Given the description of an element on the screen output the (x, y) to click on. 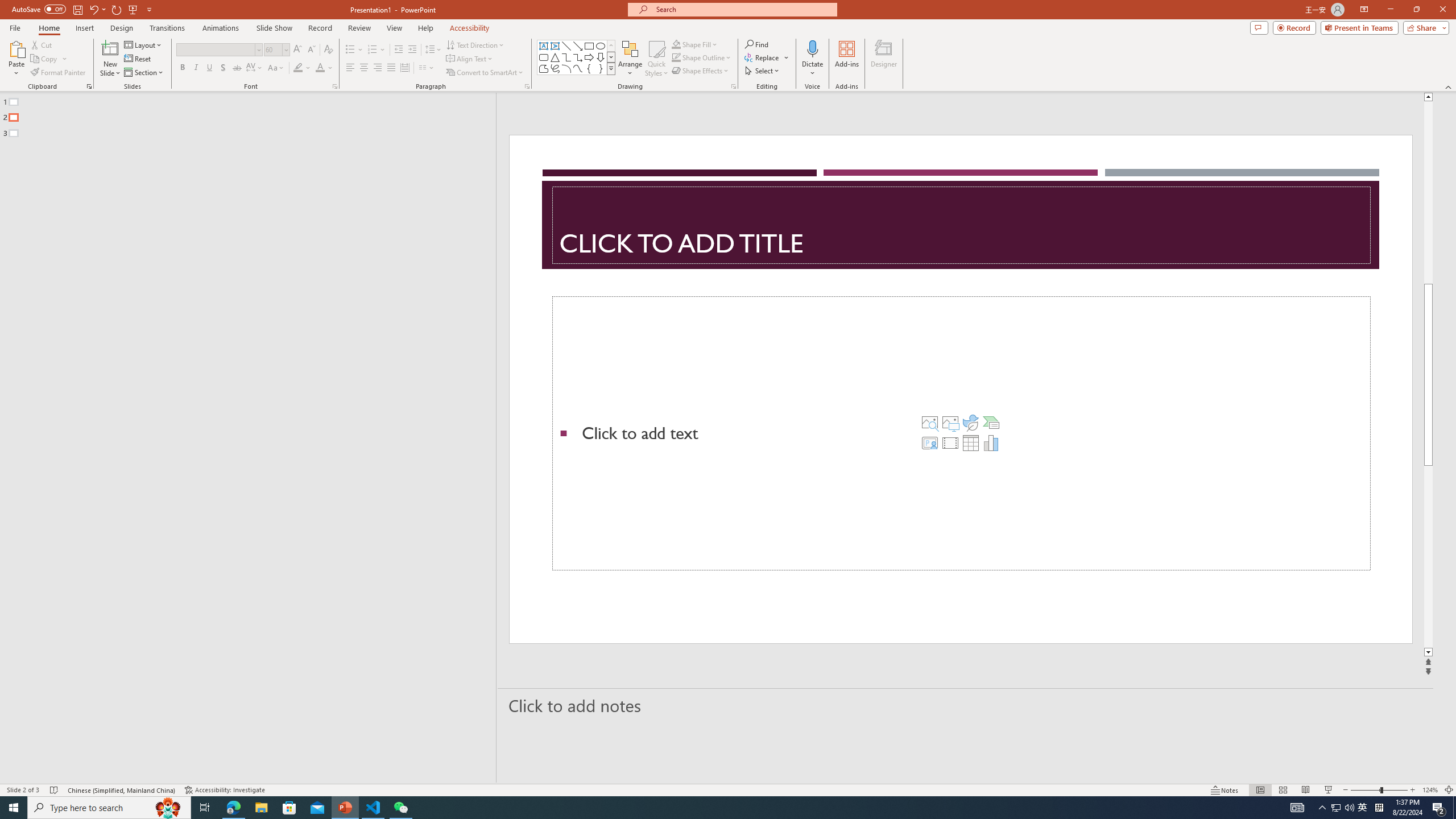
Insert a SmartArt Graphic (991, 422)
